Given the description of an element on the screen output the (x, y) to click on. 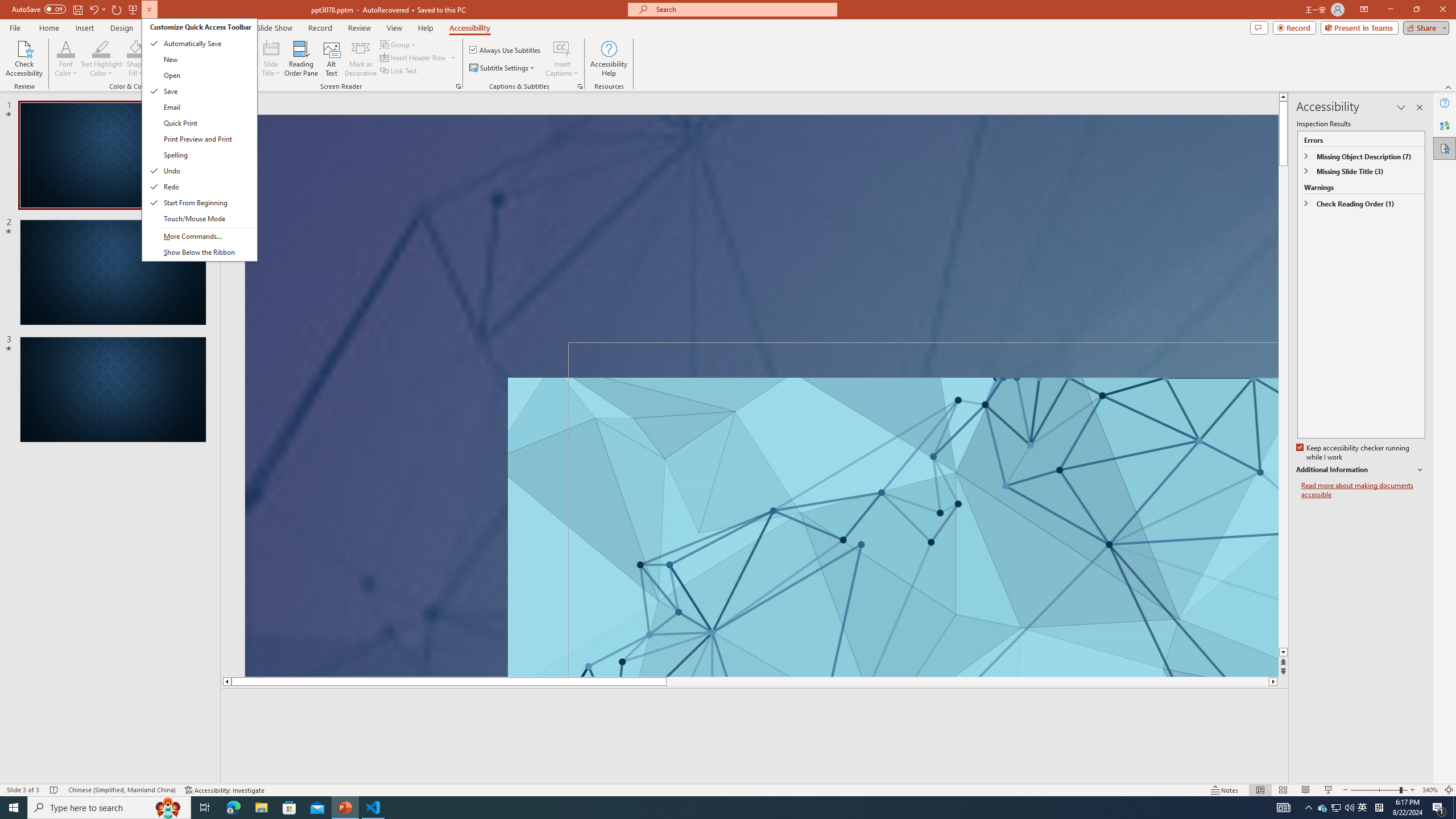
Insert Header Row (418, 56)
